Given the description of an element on the screen output the (x, y) to click on. 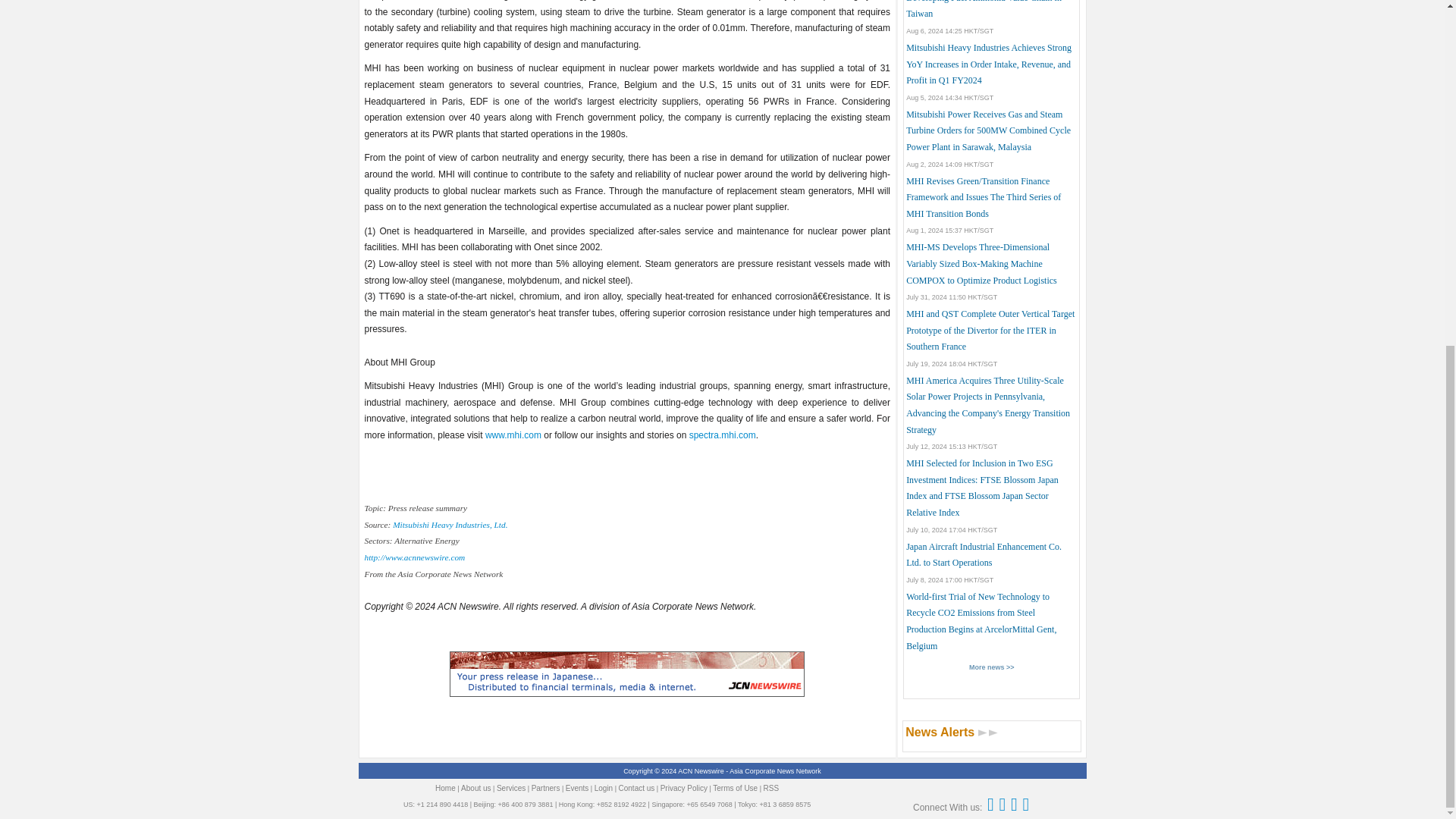
Services (510, 787)
Login (603, 787)
Mitsubishi Heavy Industries, Ltd. (449, 524)
Events (577, 787)
Home (445, 787)
www.mhi.com (512, 434)
About us (475, 787)
spectra.mhi.com (721, 434)
Partners (545, 787)
